Given the description of an element on the screen output the (x, y) to click on. 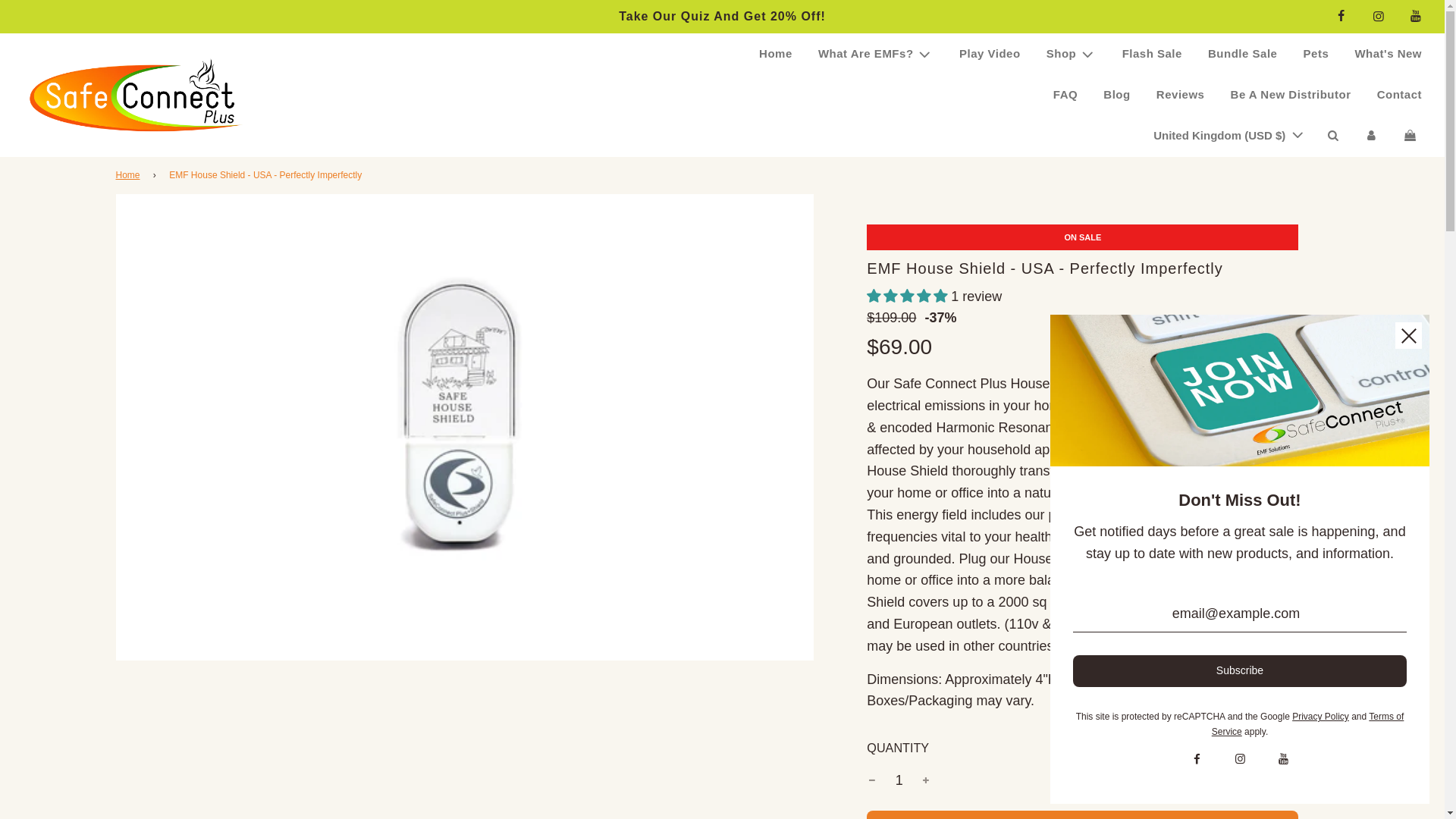
Subscribe (1239, 671)
1 (898, 780)
Home (775, 53)
Log in (1371, 135)
Back to the frontpage (129, 175)
